Given the description of an element on the screen output the (x, y) to click on. 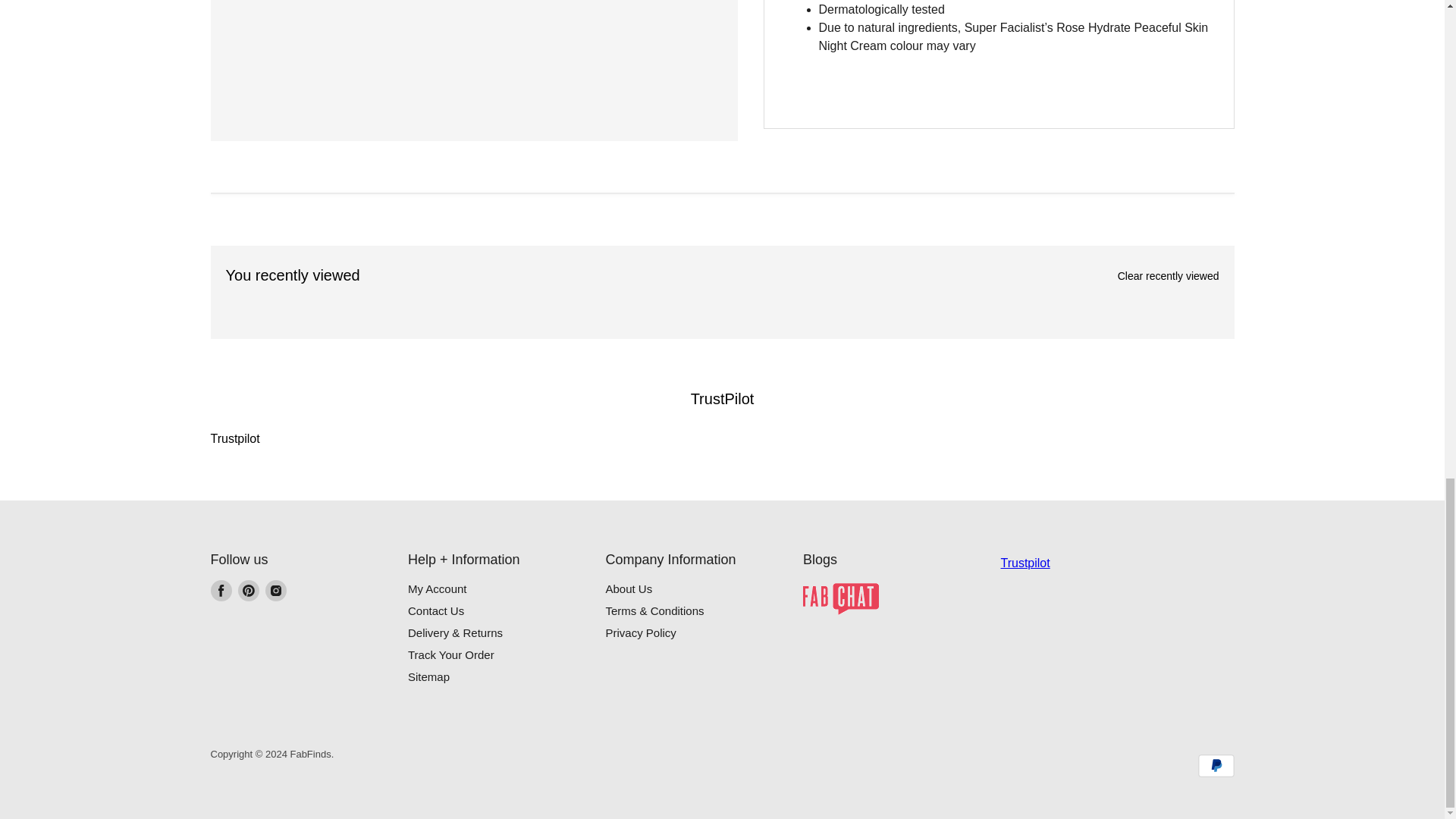
Facebook (221, 590)
Instagram (275, 590)
Pinterest (248, 590)
PayPal (1216, 765)
